Given the description of an element on the screen output the (x, y) to click on. 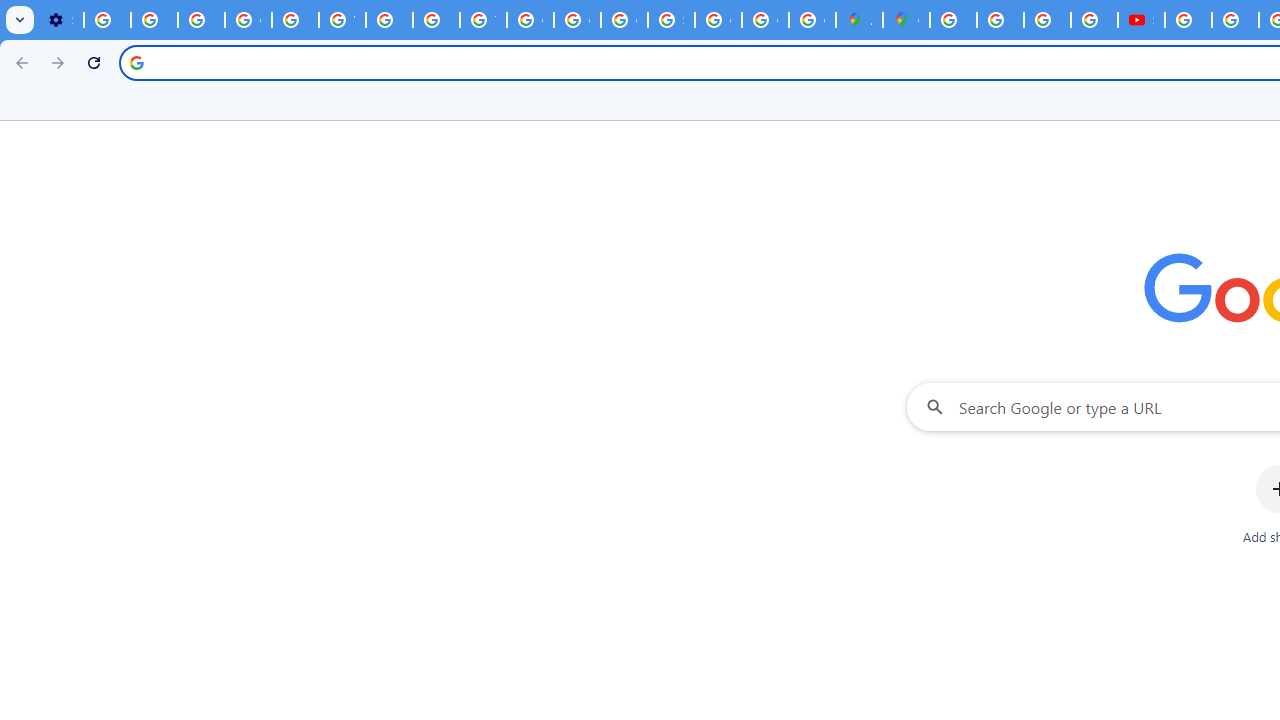
Sign in - Google Accounts (671, 20)
Privacy Help Center - Policies Help (436, 20)
Learn how to find your photos - Google Photos Help (153, 20)
Google Maps (906, 20)
Privacy Help Center - Policies Help (999, 20)
Privacy Help Center - Policies Help (1047, 20)
